Given the description of an element on the screen output the (x, y) to click on. 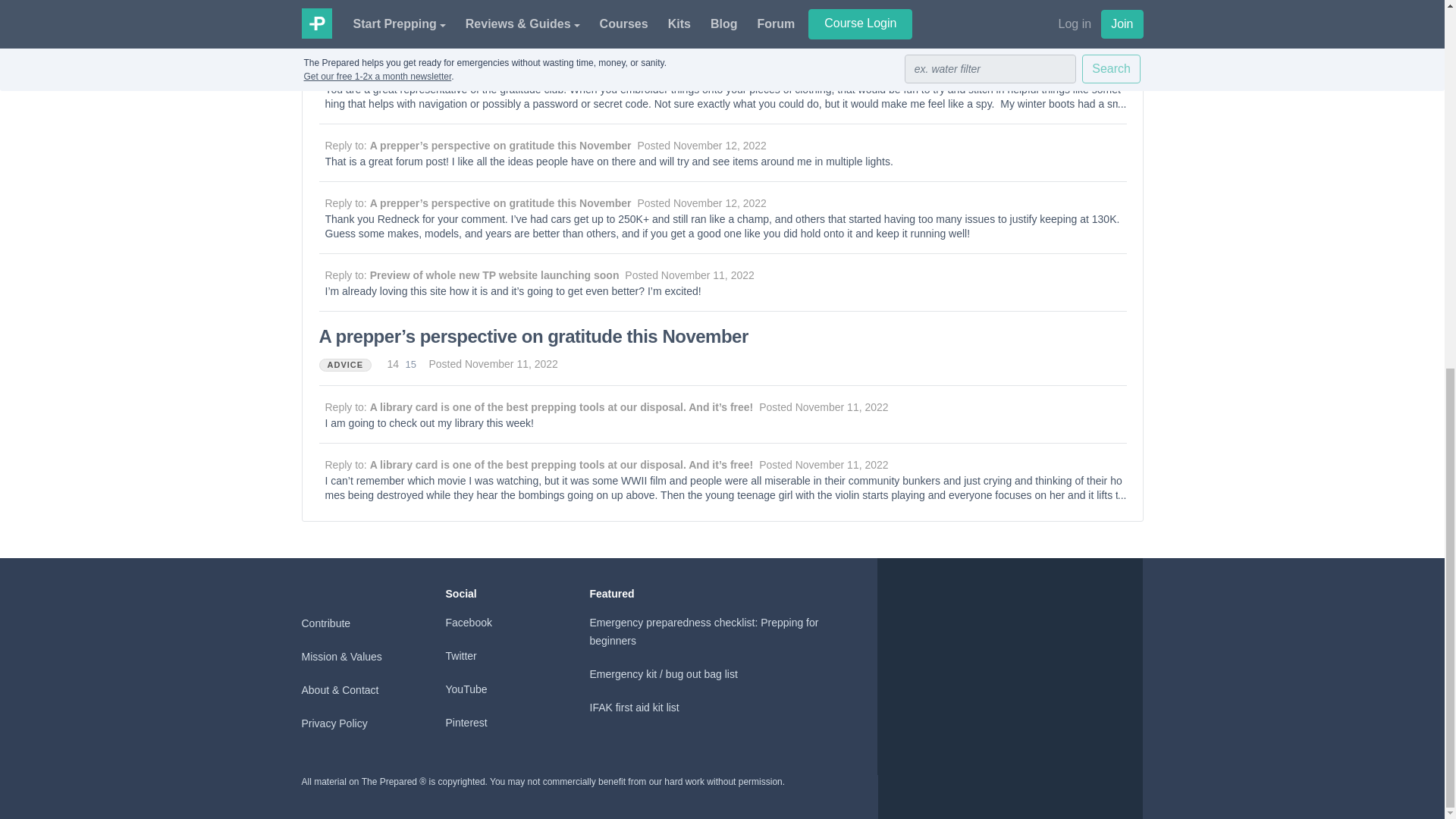
14 (395, 30)
15 (411, 364)
Living off a Datrex ration block for 2 days (489, 6)
